Given the description of an element on the screen output the (x, y) to click on. 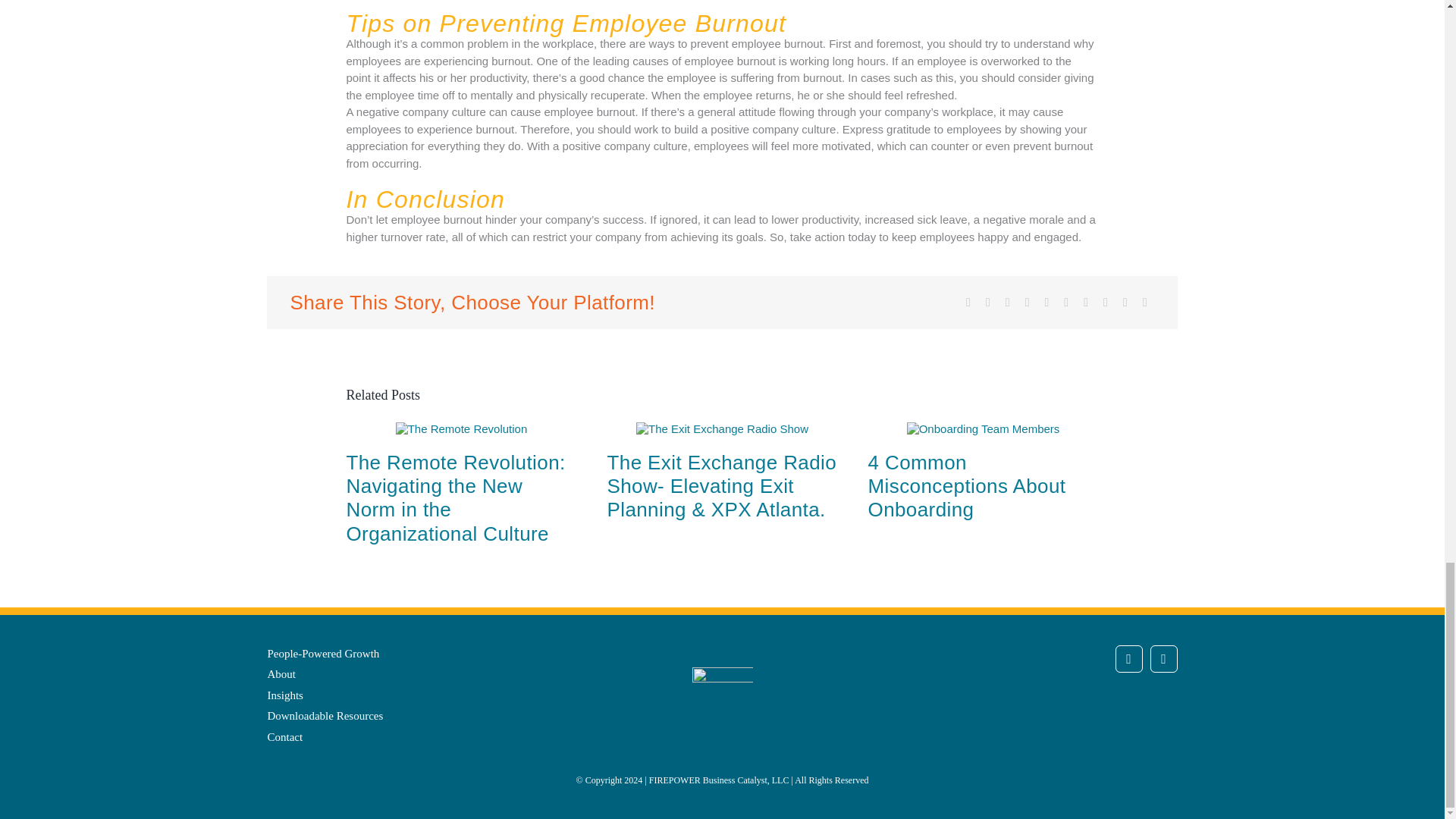
Facebook (968, 302)
Tumblr (1066, 302)
Facebook (1128, 658)
Email (1144, 302)
LinkedIn (1163, 658)
4 Common Misconceptions About Onboarding (966, 485)
4 Common Misconceptions About Onboarding (966, 485)
Xing (1125, 302)
Favicon512new (721, 697)
LinkedIn (1026, 302)
X (987, 302)
Vk (1105, 302)
Pinterest (1085, 302)
